Given the description of an element on the screen output the (x, y) to click on. 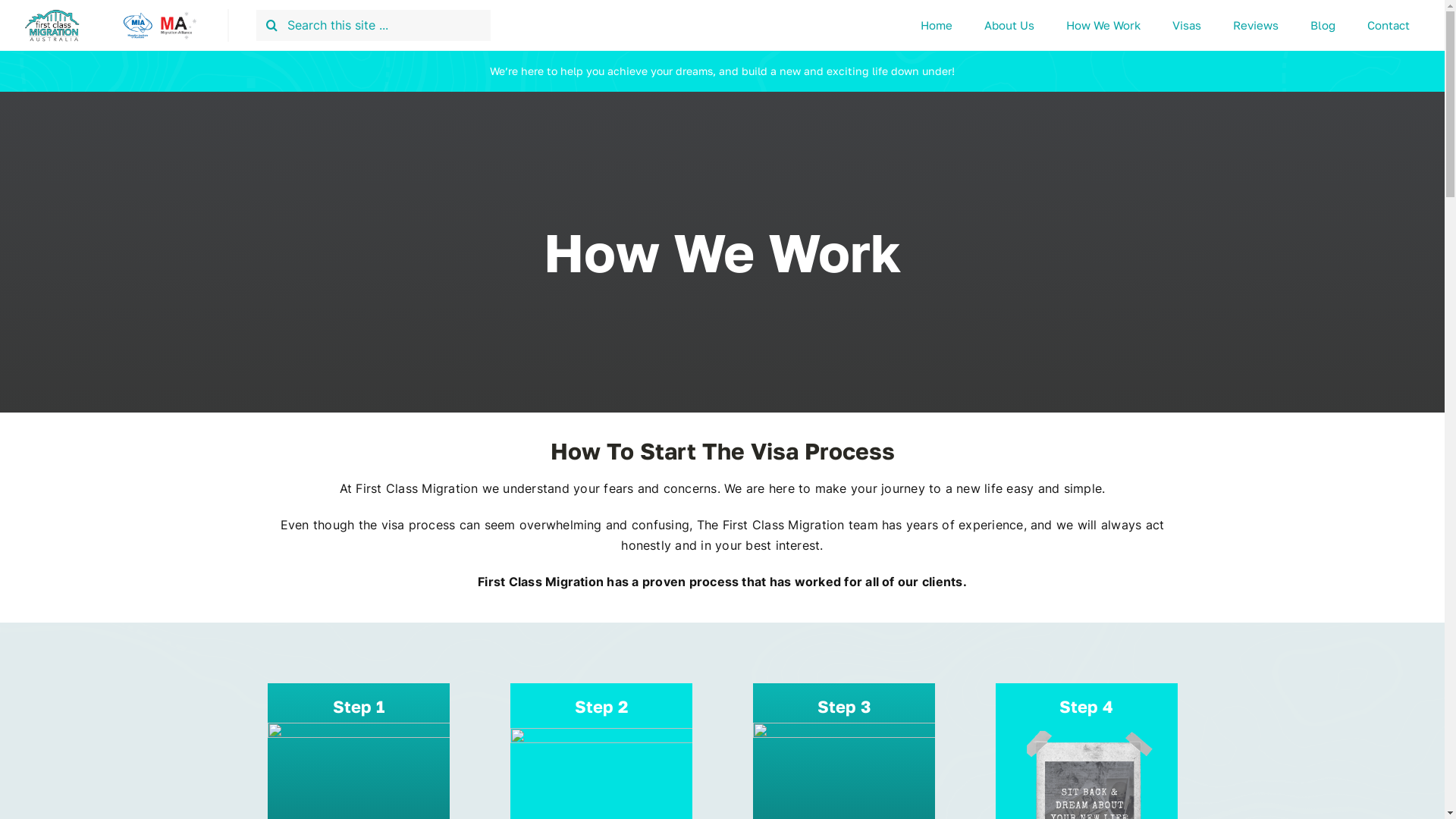
Contact Element type: text (1388, 24)
About Us Element type: text (1009, 24)
Visas Element type: text (1186, 24)
Home Element type: text (936, 24)
How We Work Element type: text (1103, 24)
Blog Element type: text (1322, 24)
Reviews Element type: text (1255, 24)
